Given the description of an element on the screen output the (x, y) to click on. 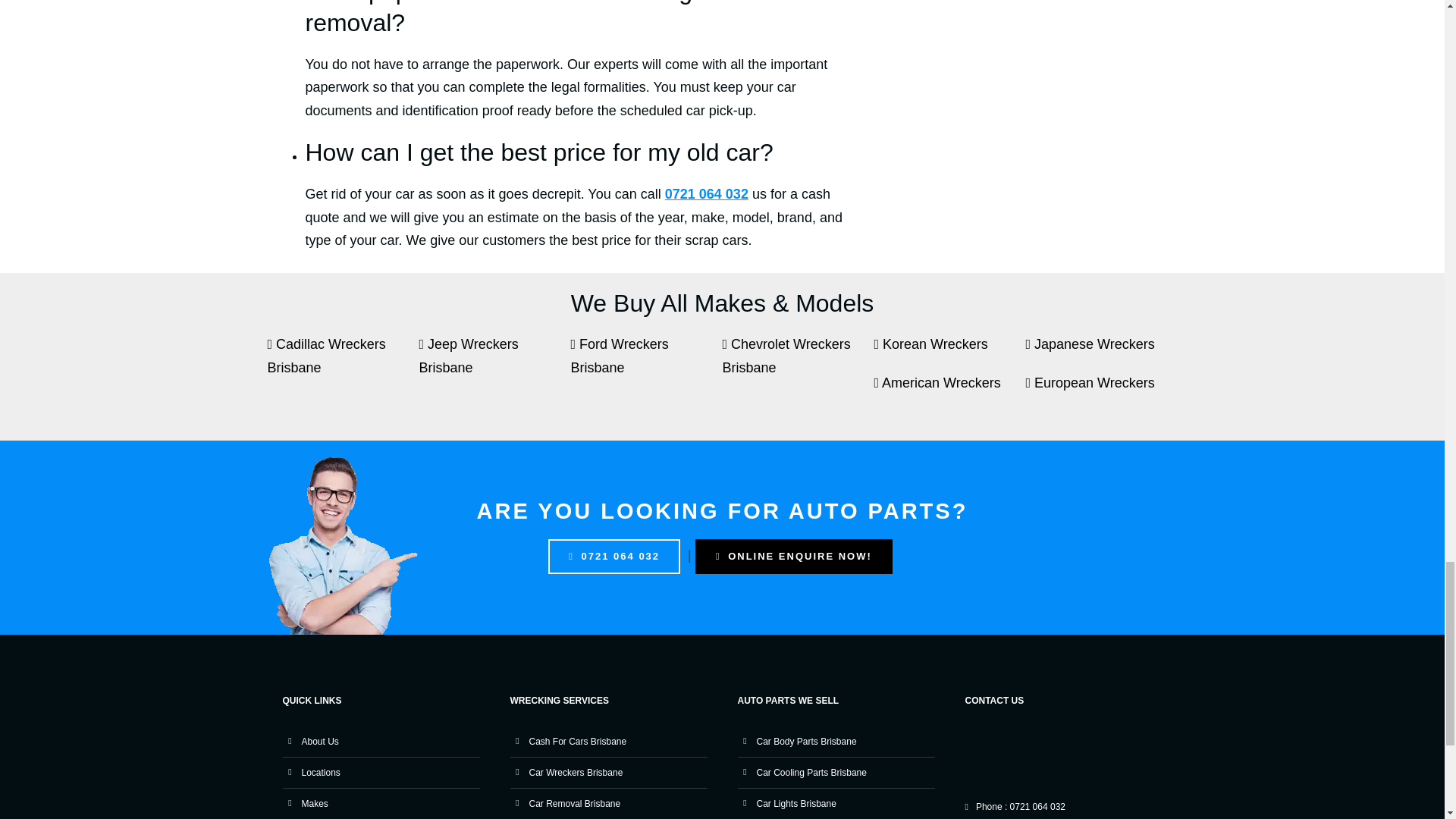
European Wreckers (1100, 390)
Jeep Wreckers Brisbane (494, 362)
American Wreckers (949, 390)
Ford Wreckers Brisbane (646, 362)
Chevrolet Wreckers Brisbane (797, 362)
Japanese Wreckers (1100, 351)
Cadillac Wreckers Brisbane (342, 362)
Korean Wreckers (949, 351)
